Given the description of an element on the screen output the (x, y) to click on. 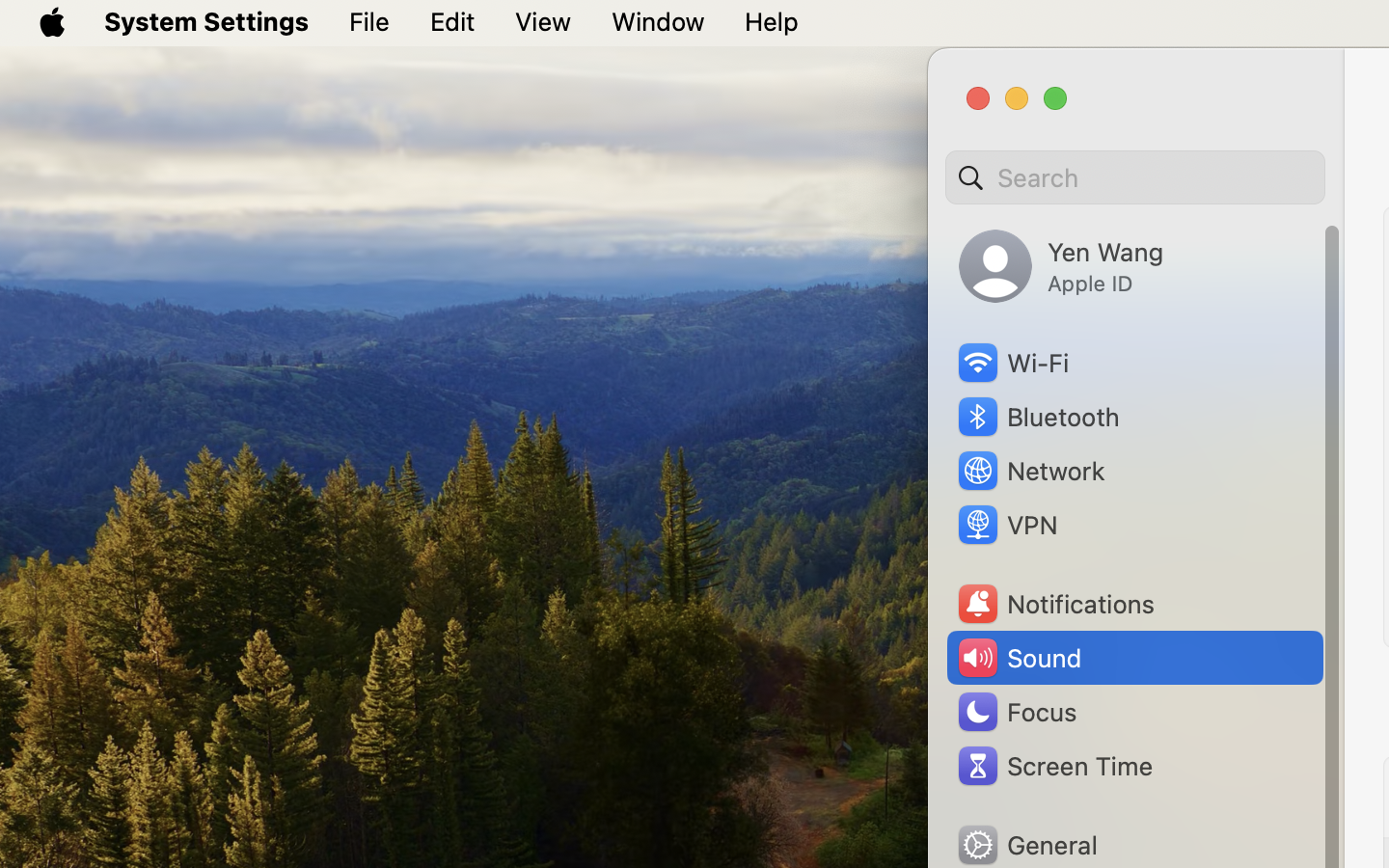
Notifications Element type: AXStaticText (1054, 603)
Sound Element type: AXStaticText (1018, 657)
Yen Wang, Apple ID Element type: AXStaticText (1060, 265)
Bluetooth Element type: AXStaticText (1037, 416)
Screen Time Element type: AXStaticText (1053, 765)
